Given the description of an element on the screen output the (x, y) to click on. 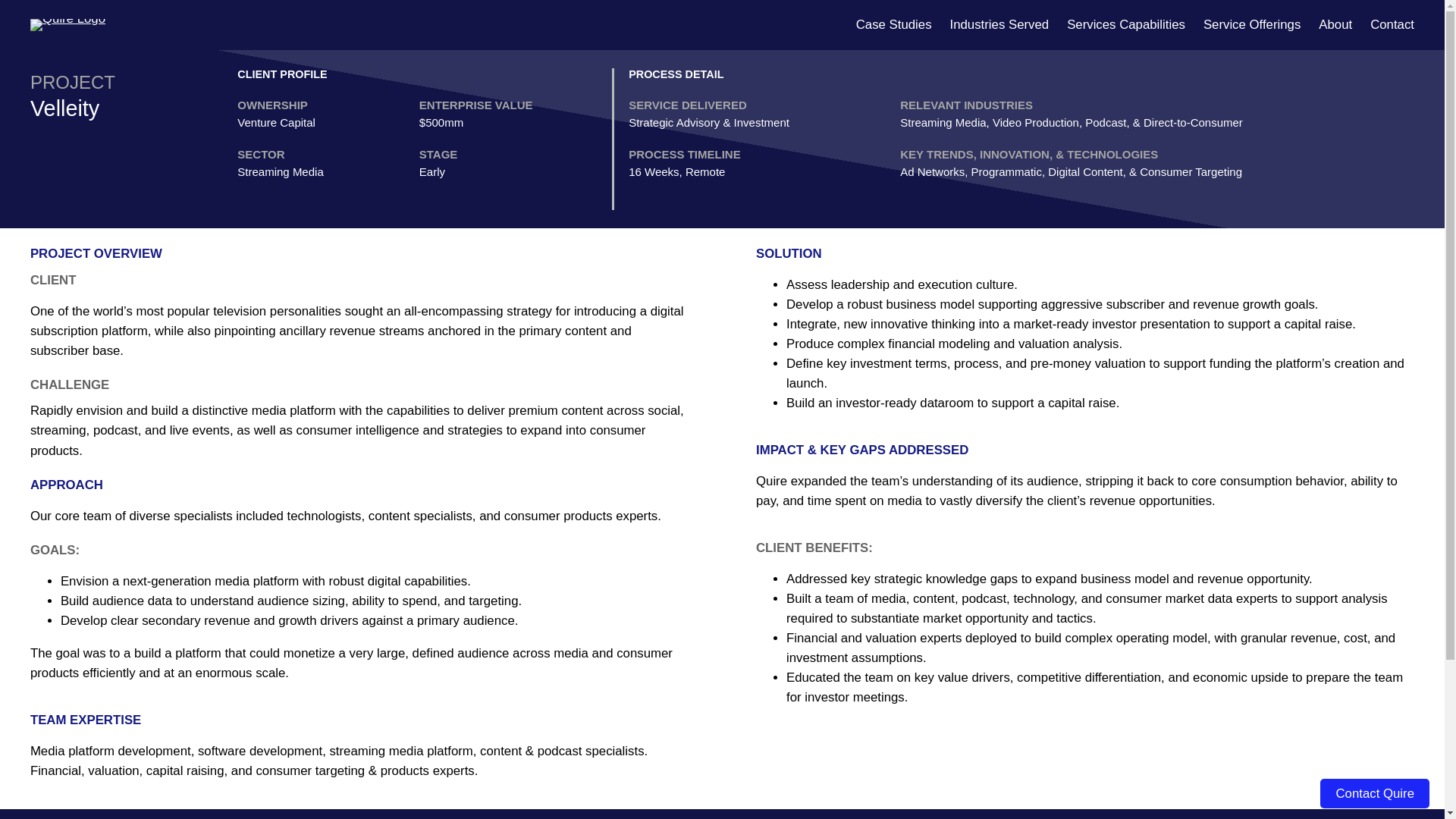
Industries Served (999, 25)
Contact Quire (1374, 793)
Contact (1391, 25)
Case Studies (893, 25)
Services Capabilities (1126, 25)
About (1335, 25)
Service Offerings (1252, 25)
